Given the description of an element on the screen output the (x, y) to click on. 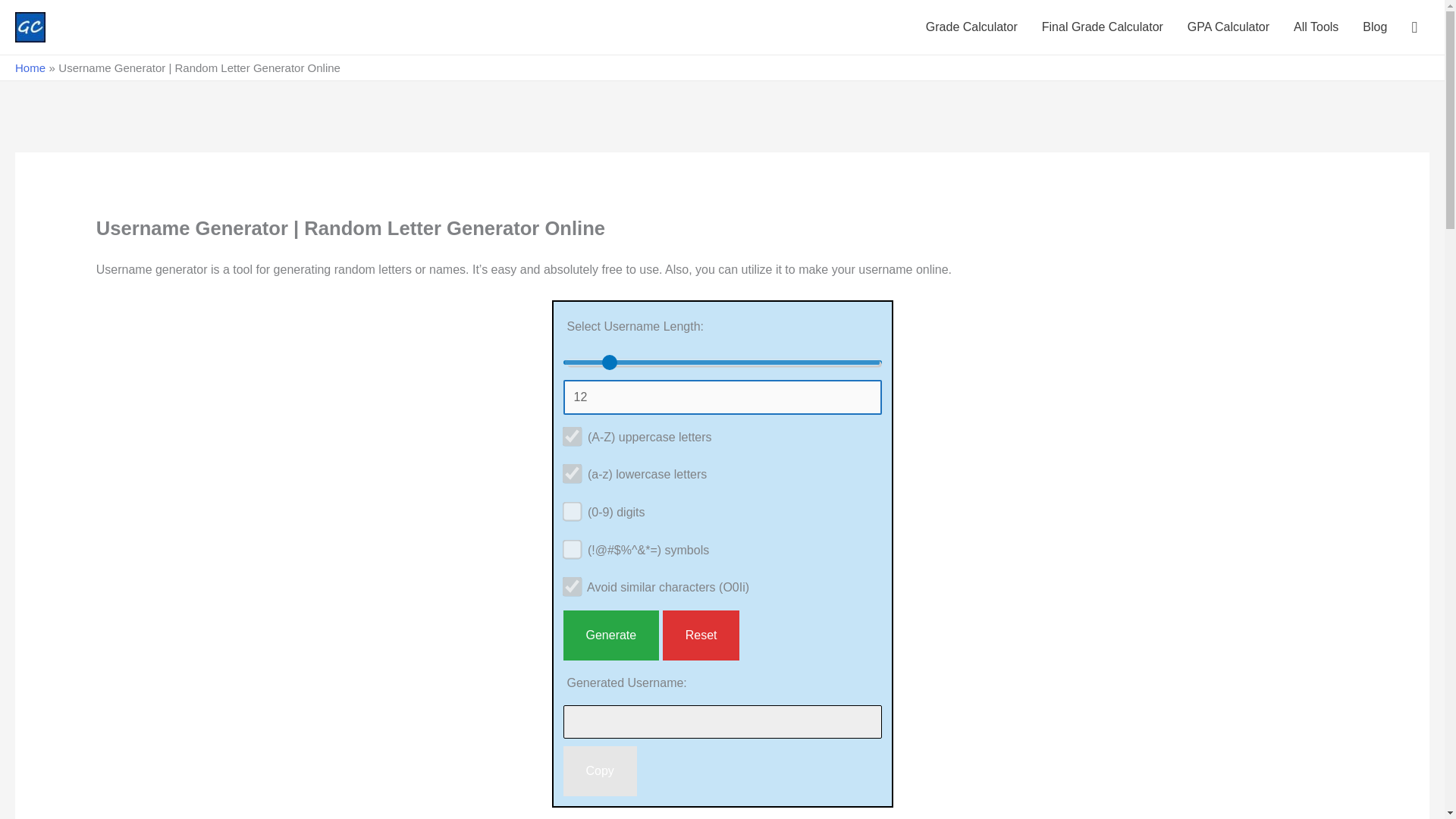
Blog (1375, 27)
All Tools (1316, 27)
12 (721, 397)
Final Grade Calculator (1101, 27)
12 (721, 362)
GPA Calculator (1227, 27)
Copy (599, 771)
on (567, 543)
Generate (610, 635)
on (567, 506)
on (567, 430)
Home (29, 67)
Search (18, 17)
on (567, 469)
on (567, 582)
